Given the description of an element on the screen output the (x, y) to click on. 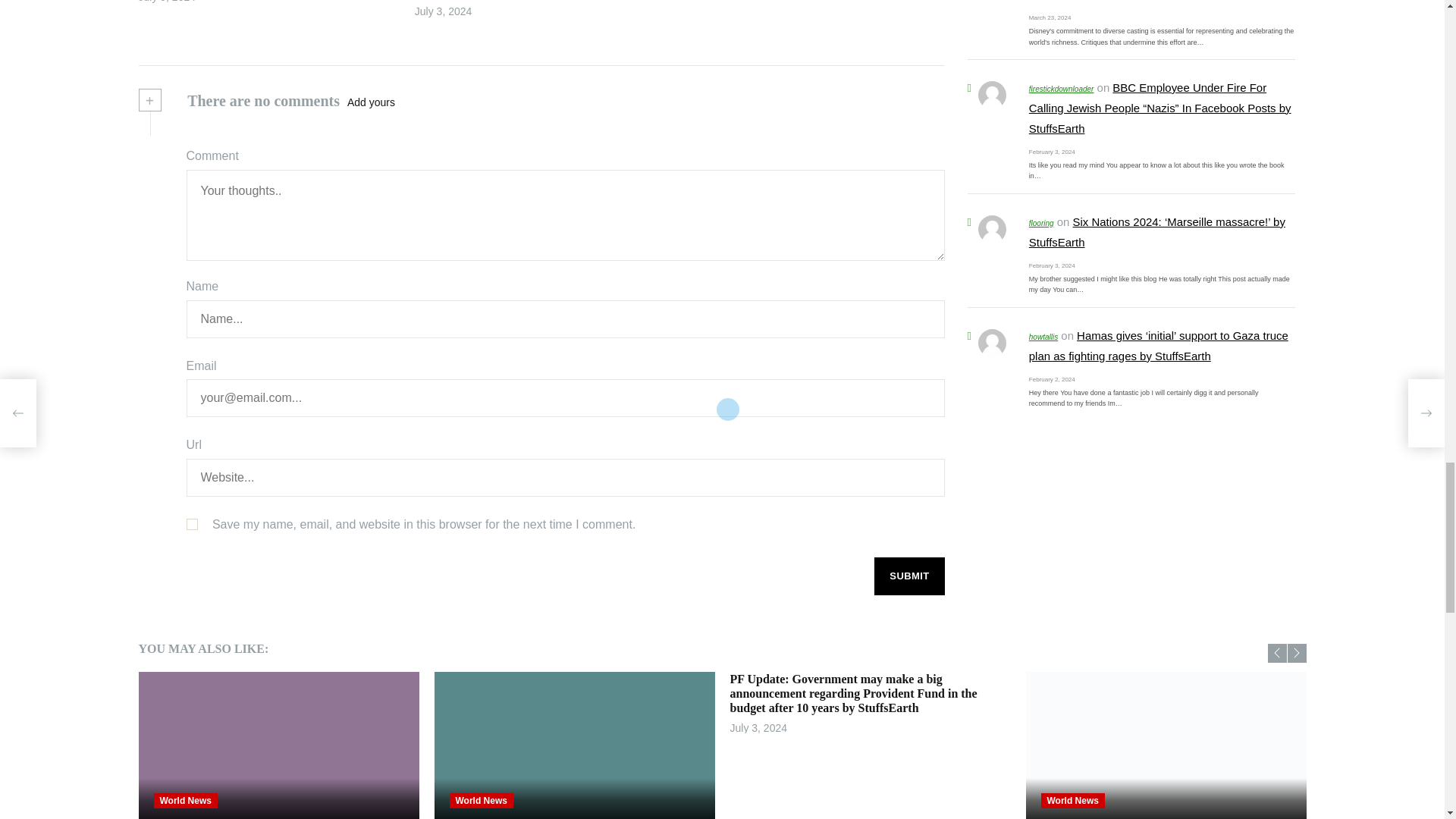
Submit (909, 576)
yes (192, 523)
